Given the description of an element on the screen output the (x, y) to click on. 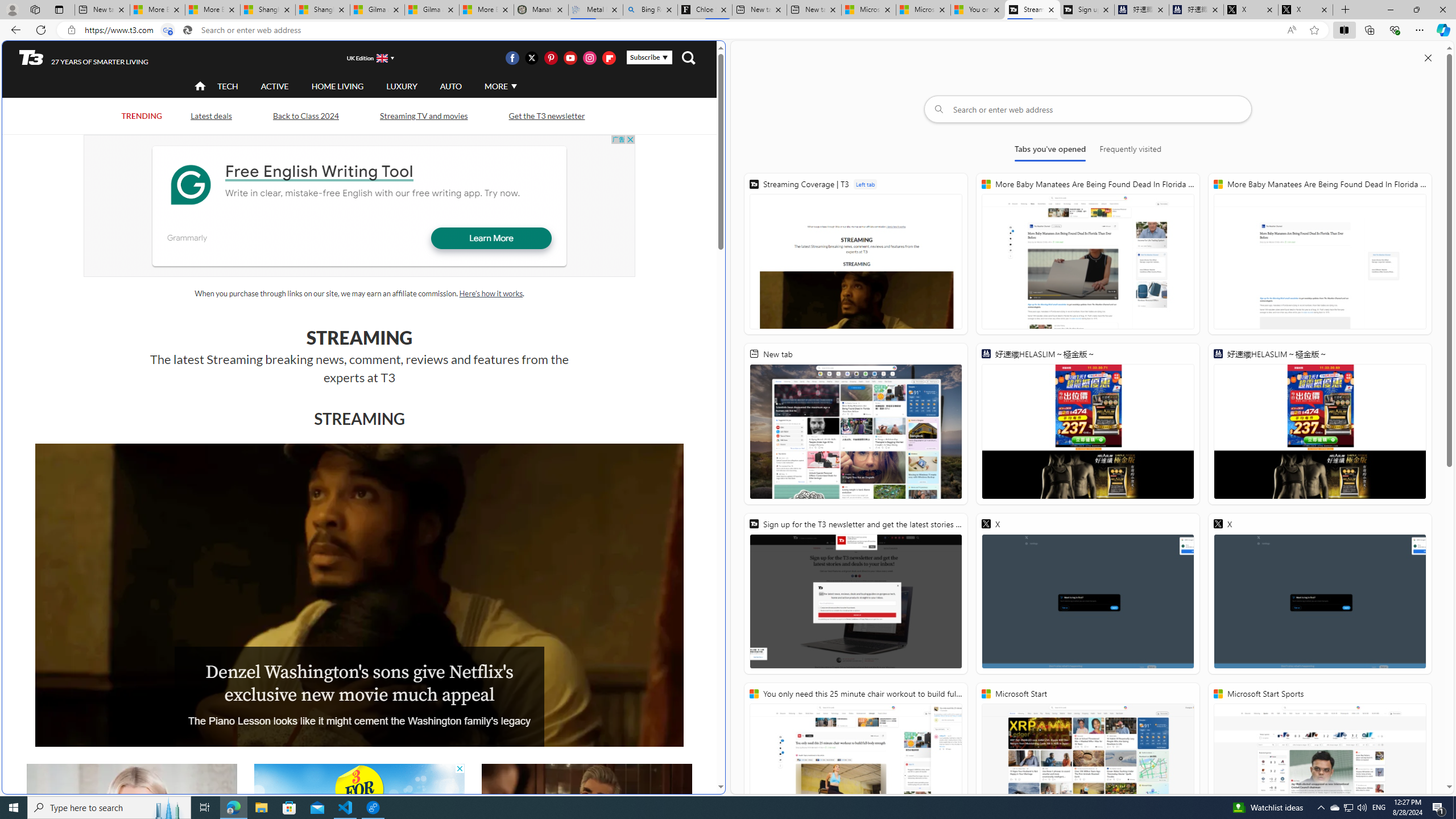
X (1306, 9)
Split screen (1344, 29)
Restore (1416, 9)
home (200, 86)
Search or enter web address (1088, 108)
Copilot (Ctrl+Shift+.) (1442, 29)
New tab (813, 9)
Get the T3 newsletter (546, 115)
Microsoft Start Sports (869, 9)
Latest deals (210, 115)
Back to Class 2024 (305, 115)
TECH (227, 86)
